Given the description of an element on the screen output the (x, y) to click on. 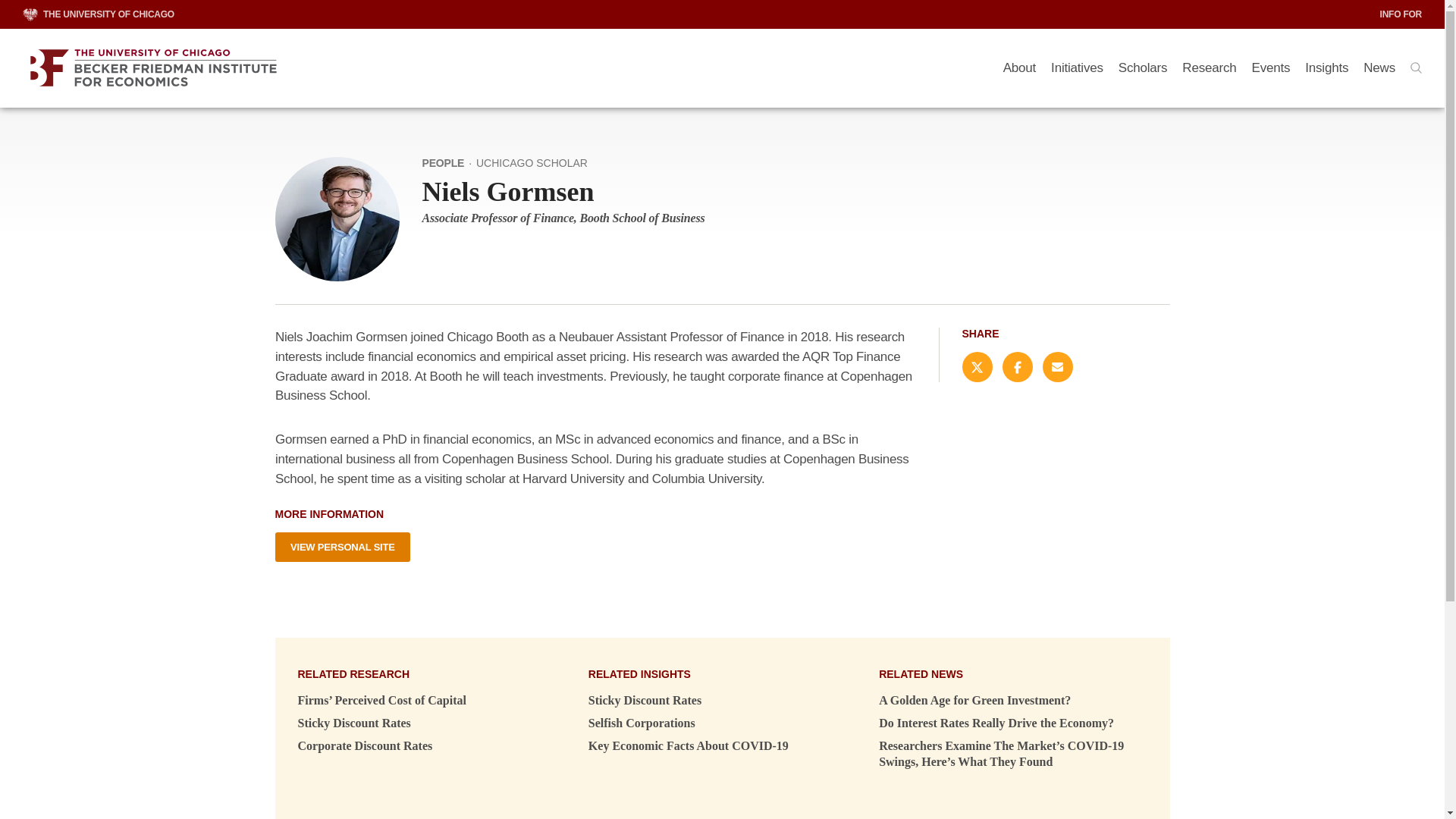
THE UNIVERSITY OF CHICAGO (98, 13)
Initiatives (1077, 68)
About (1019, 68)
INFO FOR (1401, 14)
